Given the description of an element on the screen output the (x, y) to click on. 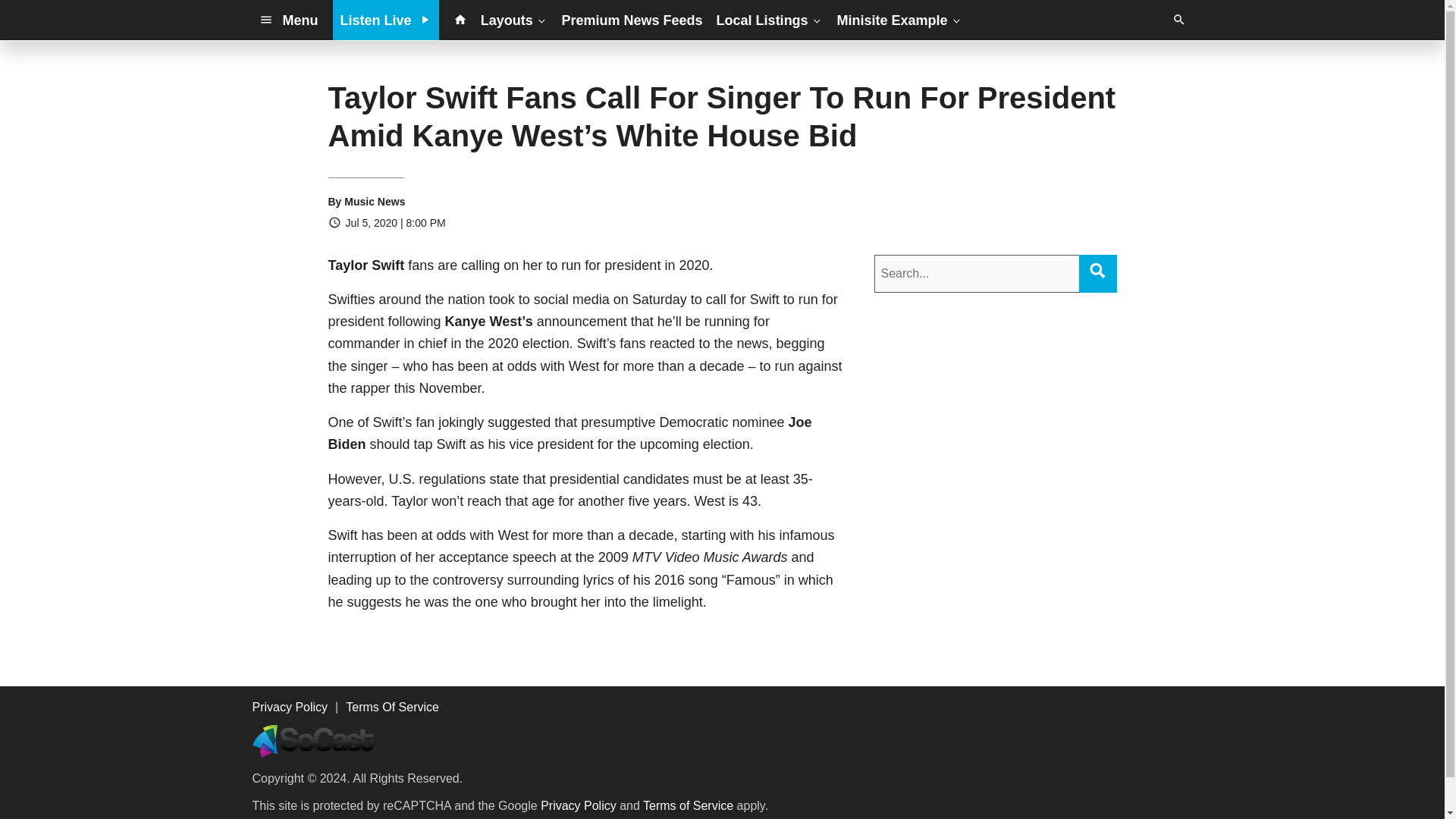
Search (1097, 269)
Menu (287, 19)
Premium News Feeds (632, 19)
Local Listings (769, 19)
Minisite Example (899, 19)
Listen Live (386, 20)
Layouts (514, 19)
